Given the description of an element on the screen output the (x, y) to click on. 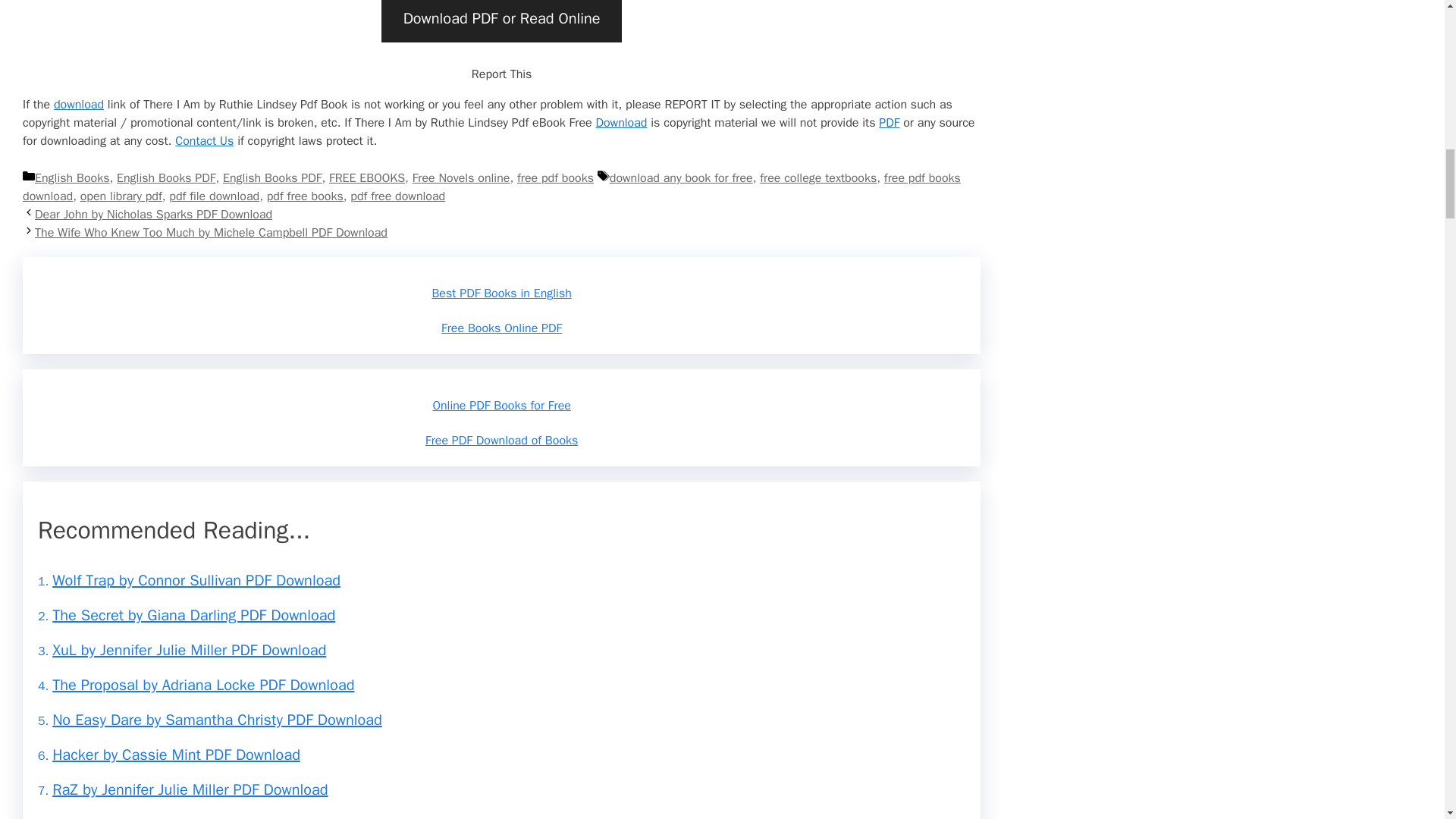
download (78, 104)
Link (78, 104)
Download PDF or Read Online (501, 21)
